Given the description of an element on the screen output the (x, y) to click on. 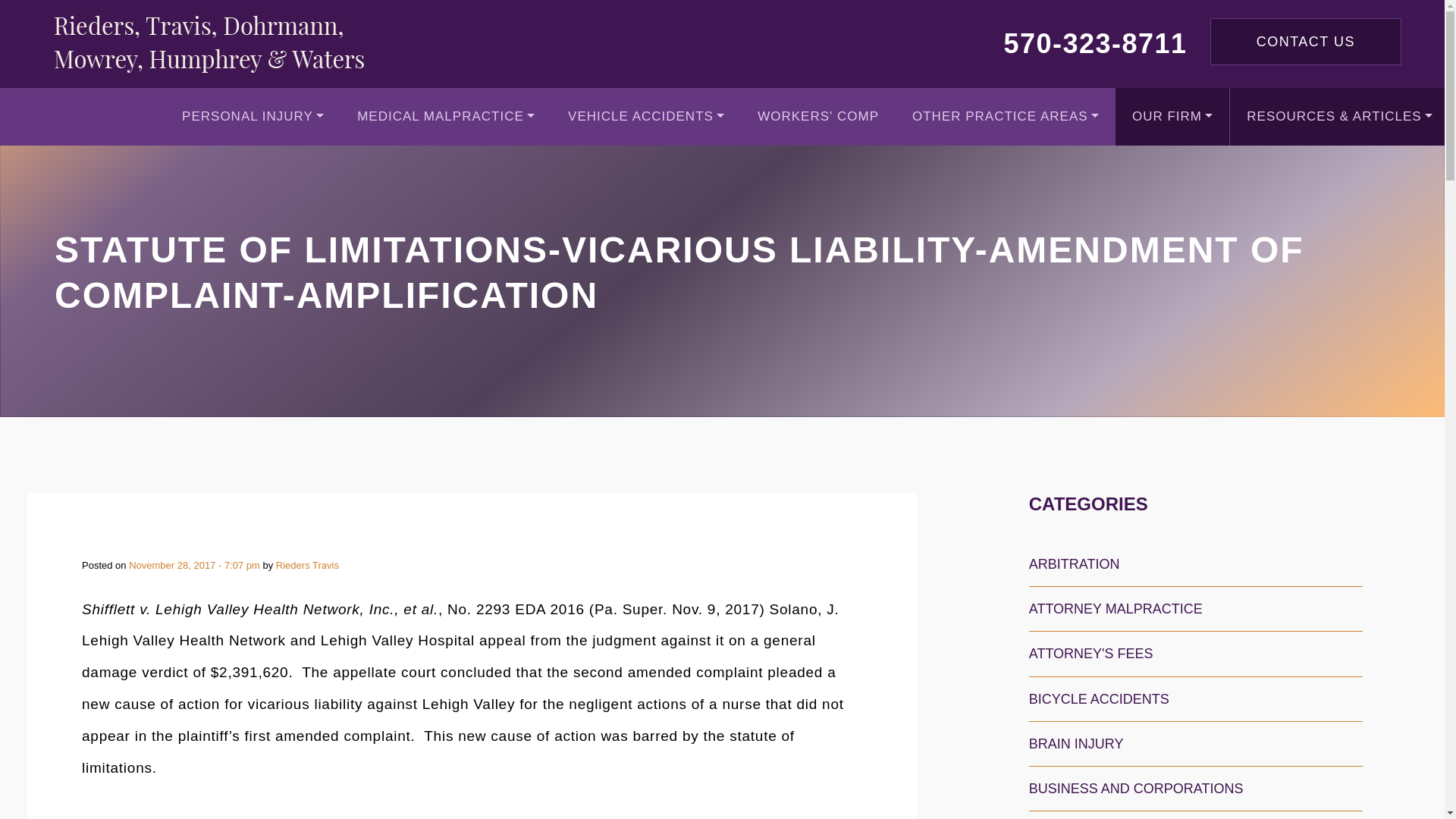
VEHICLE ACCIDENTS (646, 116)
OUR FIRM (1171, 116)
MEDICAL MALPRACTICE (445, 116)
Pennsylvania Injury Lawyers (209, 43)
Medical Malpractice (445, 116)
570-323-8711 (1094, 42)
Personal Injury (252, 116)
CONTACT US (1304, 41)
PERSONAL INJURY (252, 116)
Vehicle Accidents (646, 116)
